Given the description of an element on the screen output the (x, y) to click on. 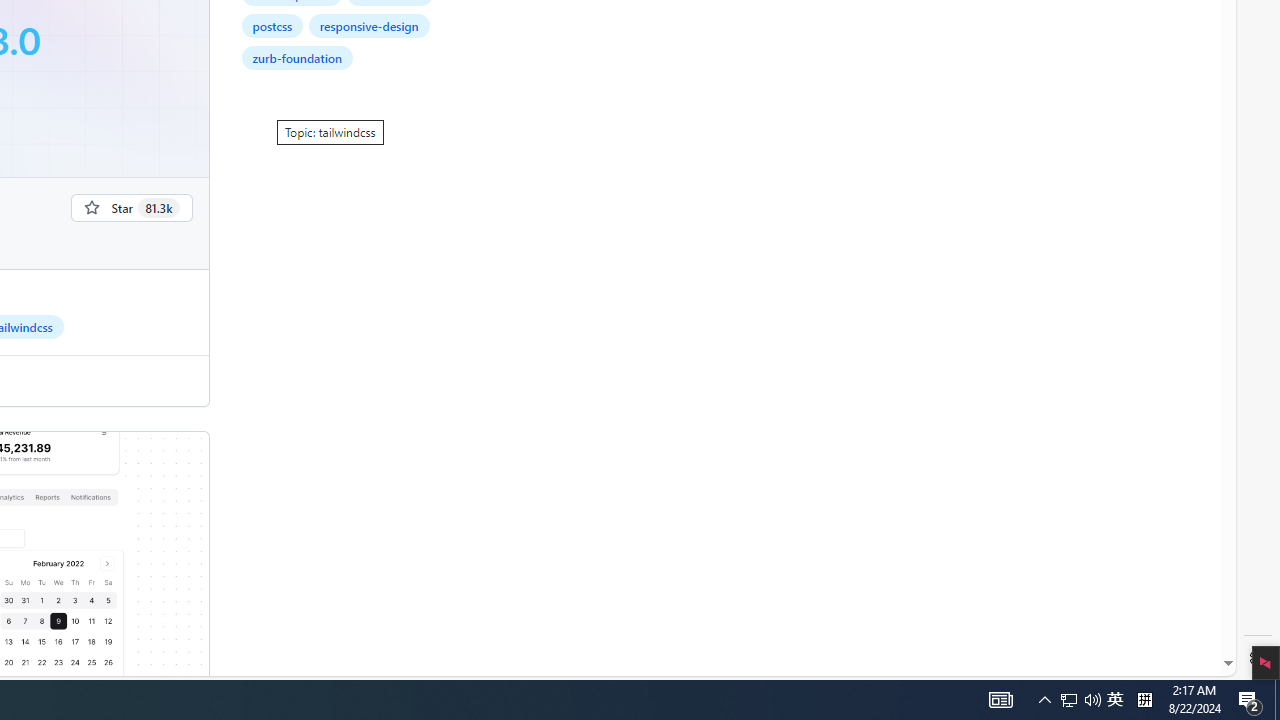
postcss (272, 25)
responsive-design (369, 25)
You must be signed in to star a repository (131, 207)
zurb-foundation (297, 57)
